Given the description of an element on the screen output the (x, y) to click on. 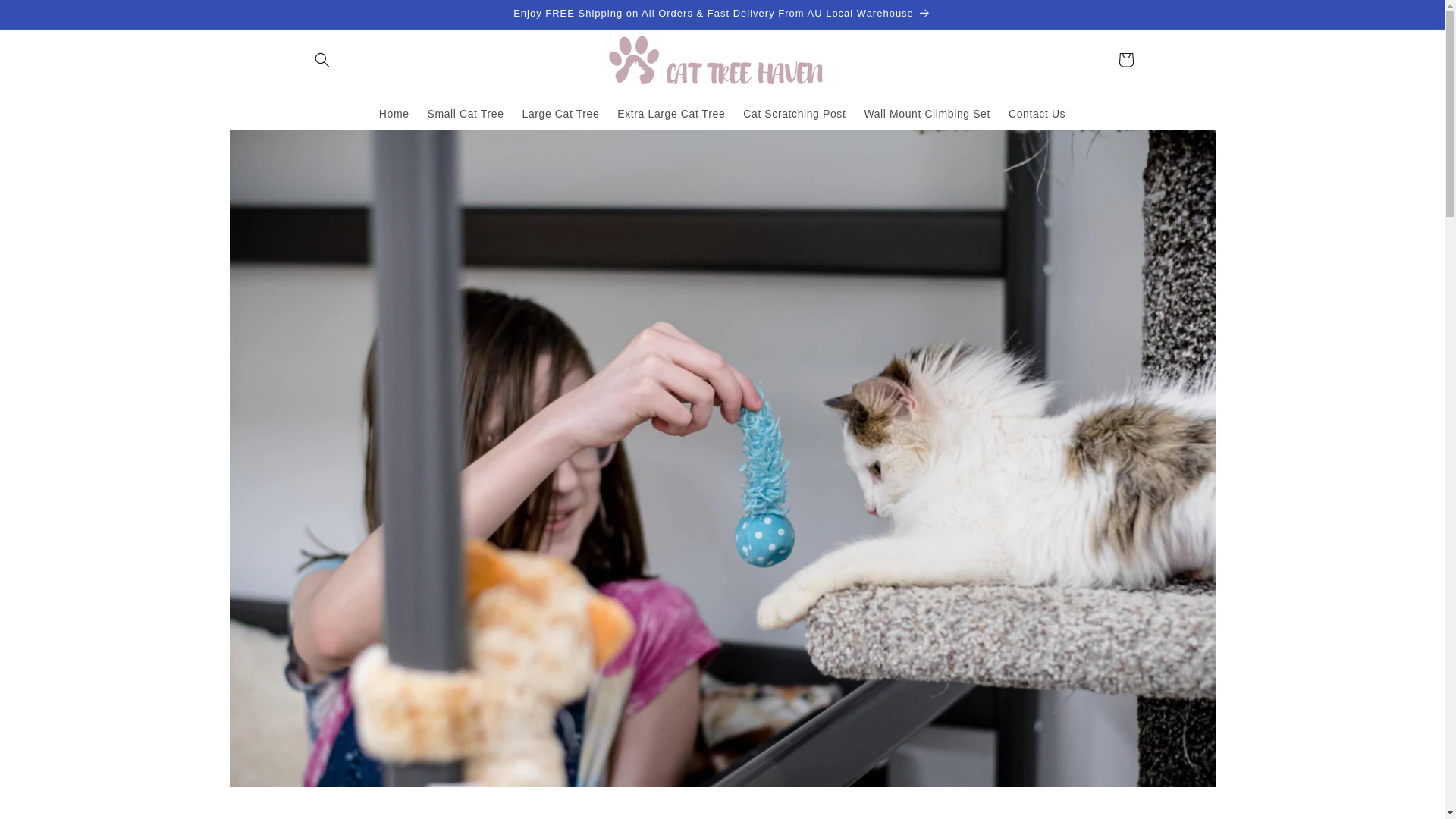
Small Cat Tree (466, 112)
Cart (1124, 59)
Contact Us (1036, 112)
Cat Scratching Post (793, 112)
Skip to content (45, 17)
Wall Mount Climbing Set (926, 112)
Large Cat Tree (560, 112)
Home (394, 112)
Extra Large Cat Tree (670, 112)
